Given the description of an element on the screen output the (x, y) to click on. 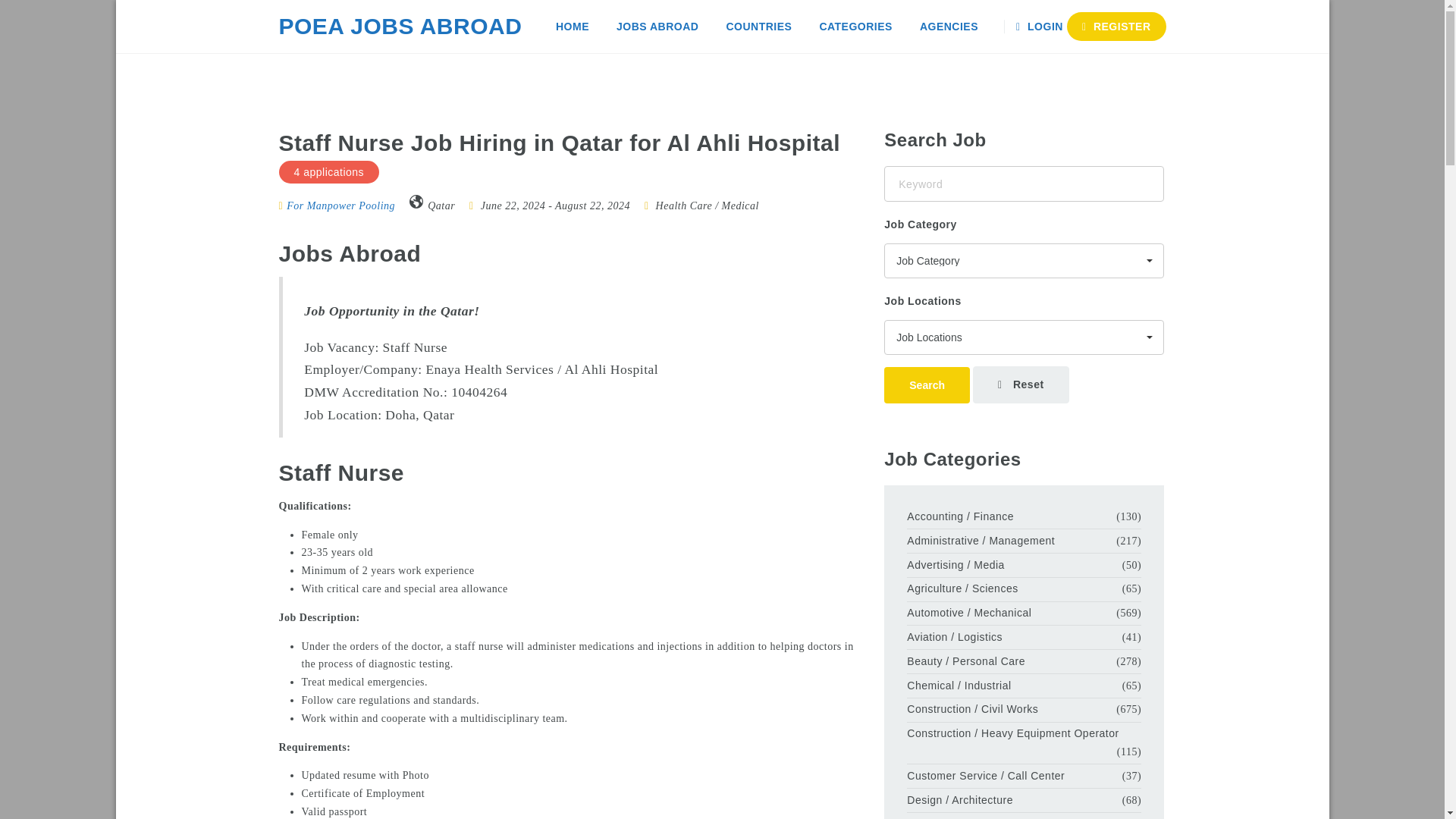
AGENCIES (948, 26)
 LOGIN (1041, 26)
HOME (571, 26)
Qatar (441, 205)
JOBS ABROAD (656, 26)
For Manpower Pooling (337, 205)
COUNTRIES (758, 26)
POEA JOBS ABROAD (400, 26)
CATEGORIES (855, 26)
 REGISTER (1116, 26)
